Given the description of an element on the screen output the (x, y) to click on. 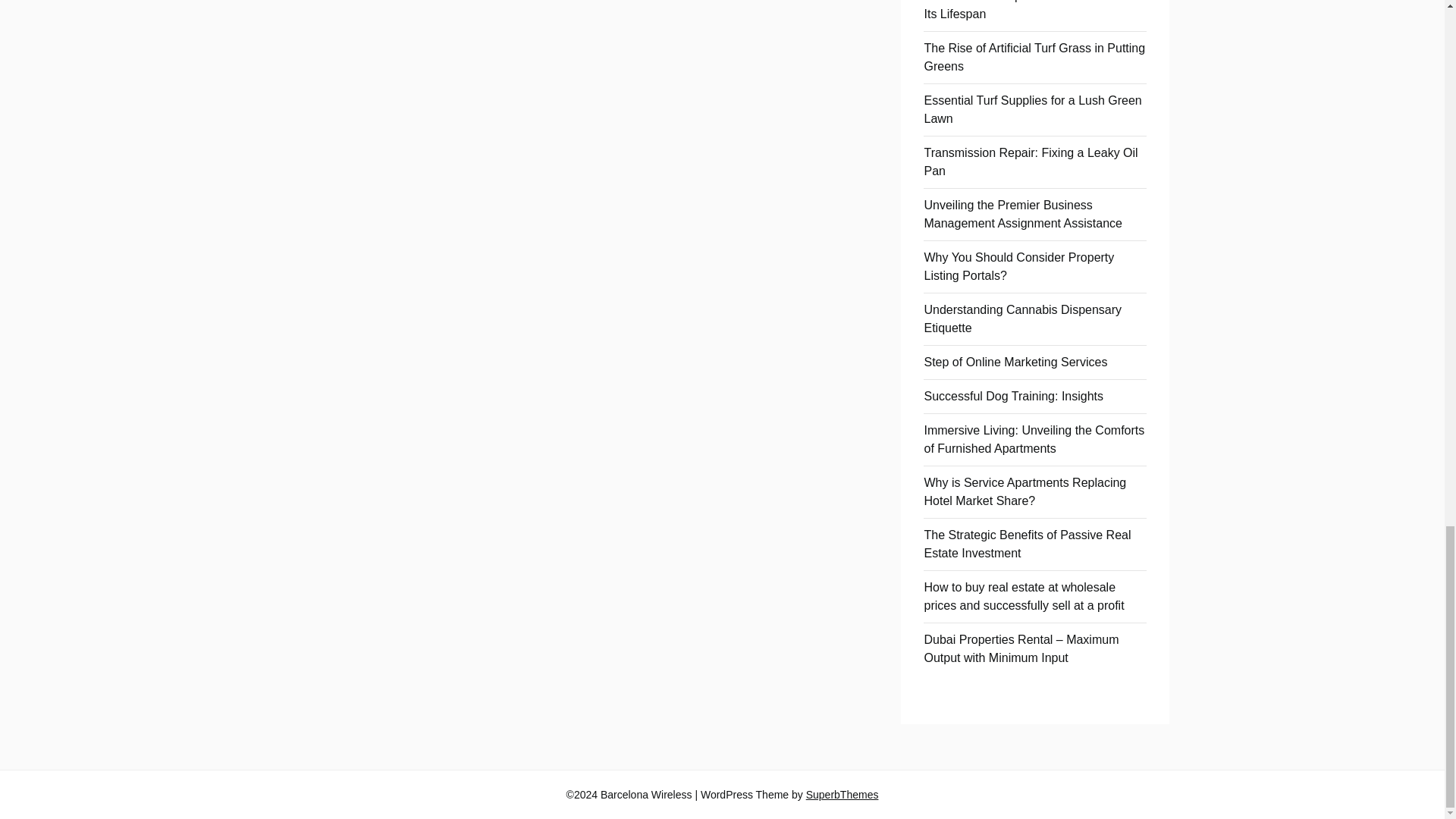
Transmission Repair and How to Extend Its Lifespan (1031, 10)
Why You Should Consider Property Listing Portals? (1018, 265)
Why is Service Apartments Replacing Hotel Market Share? (1024, 490)
Understanding Cannabis Dispensary Etiquette (1022, 318)
The Rise of Artificial Turf Grass in Putting Greens (1033, 56)
The Strategic Benefits of Passive Real Estate Investment (1027, 543)
Essential Turf Supplies for a Lush Green Lawn (1032, 109)
Successful Dog Training: Insights (1013, 395)
Step of Online Marketing Services (1014, 361)
Transmission Repair: Fixing a Leaky Oil Pan (1030, 161)
